Given the description of an element on the screen output the (x, y) to click on. 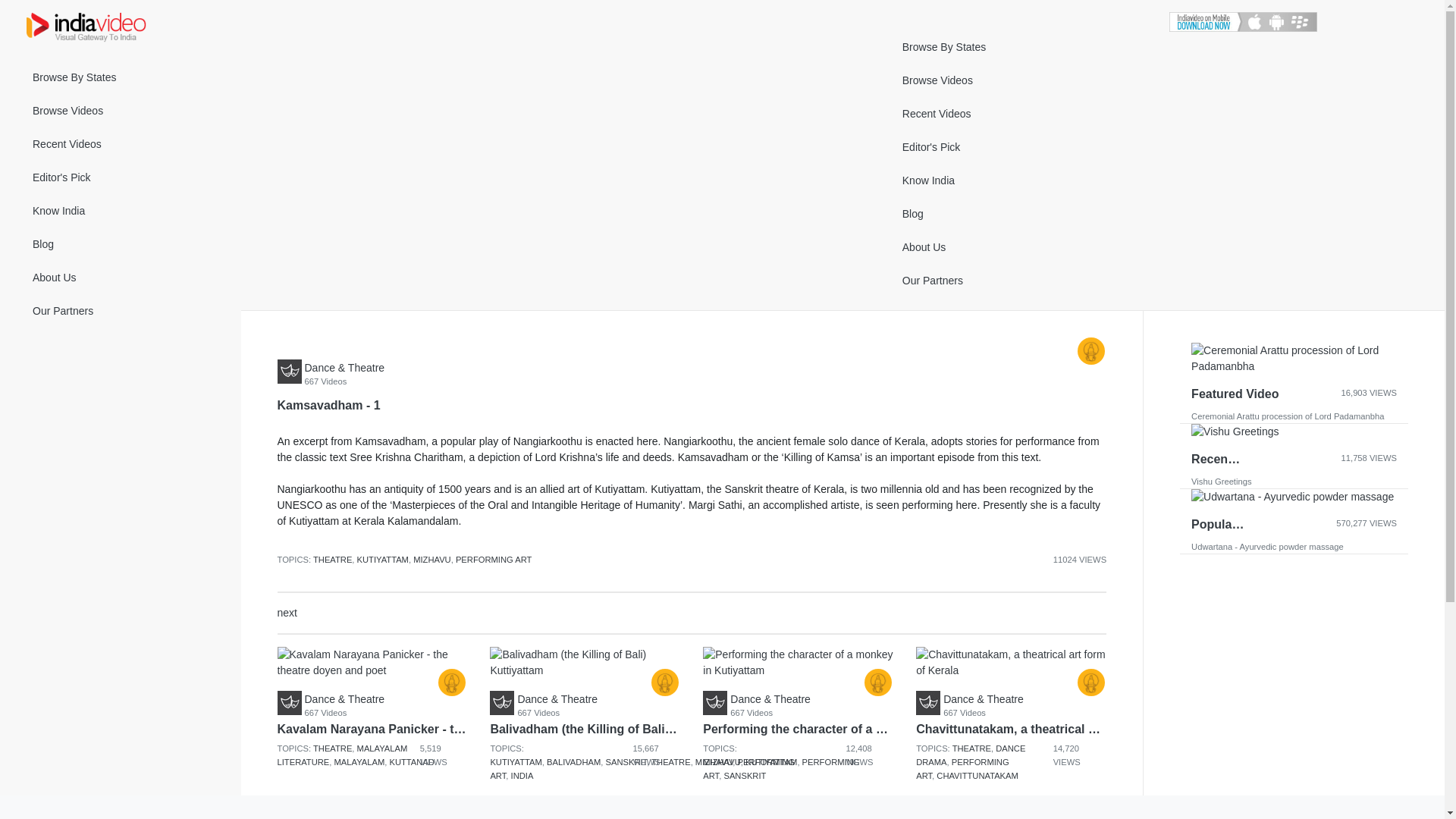
Editor's Pick (120, 177)
Blog (120, 244)
Recent Videos (120, 144)
Browse Videos (120, 110)
About Us (120, 277)
Know India (120, 211)
Browse By States (120, 77)
Kavalam Narayana Panicker - the theatre doyen and poet  (372, 662)
